Given the description of an element on the screen output the (x, y) to click on. 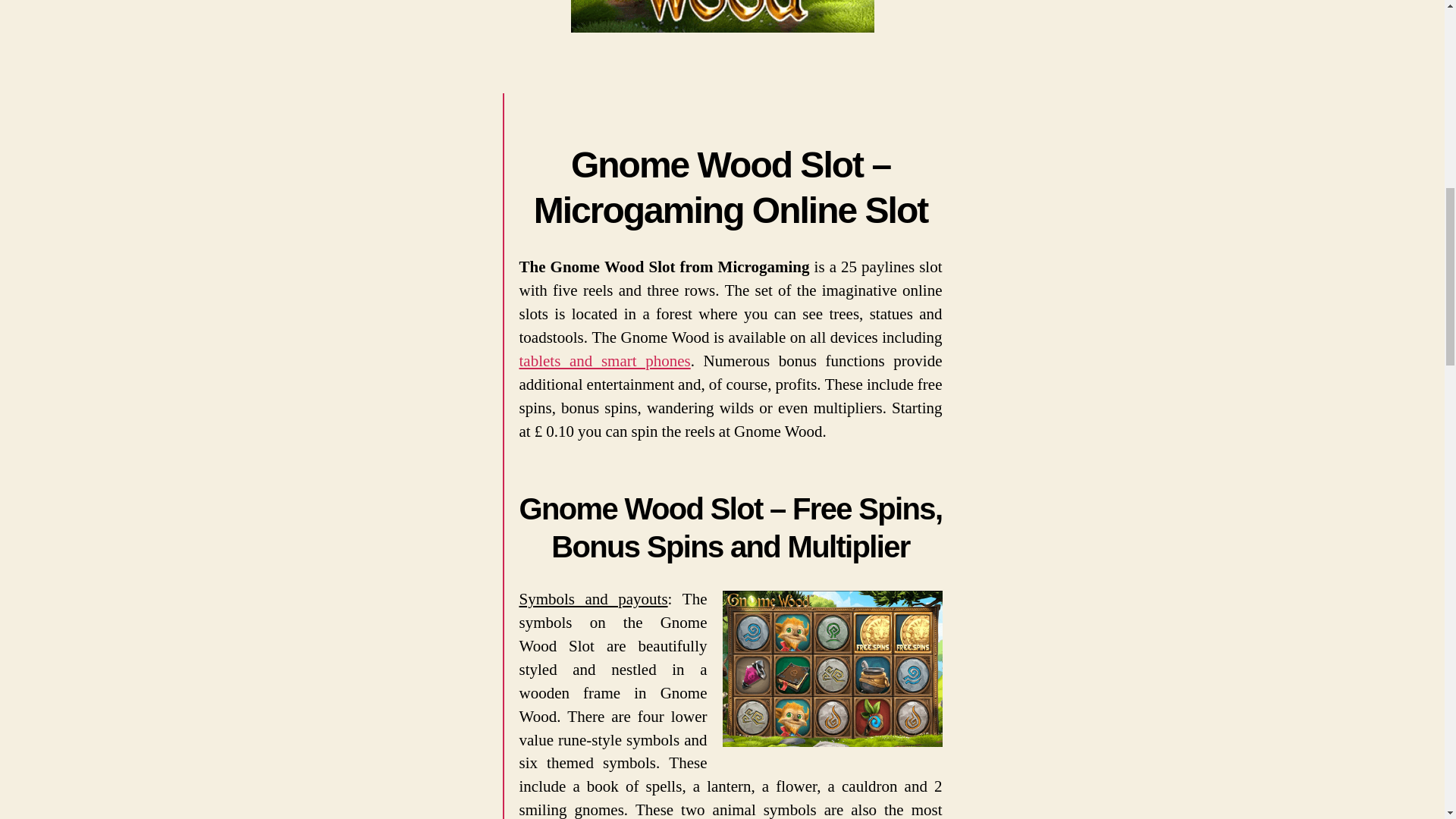
Play Gnome Wood (832, 668)
